Given the description of an element on the screen output the (x, y) to click on. 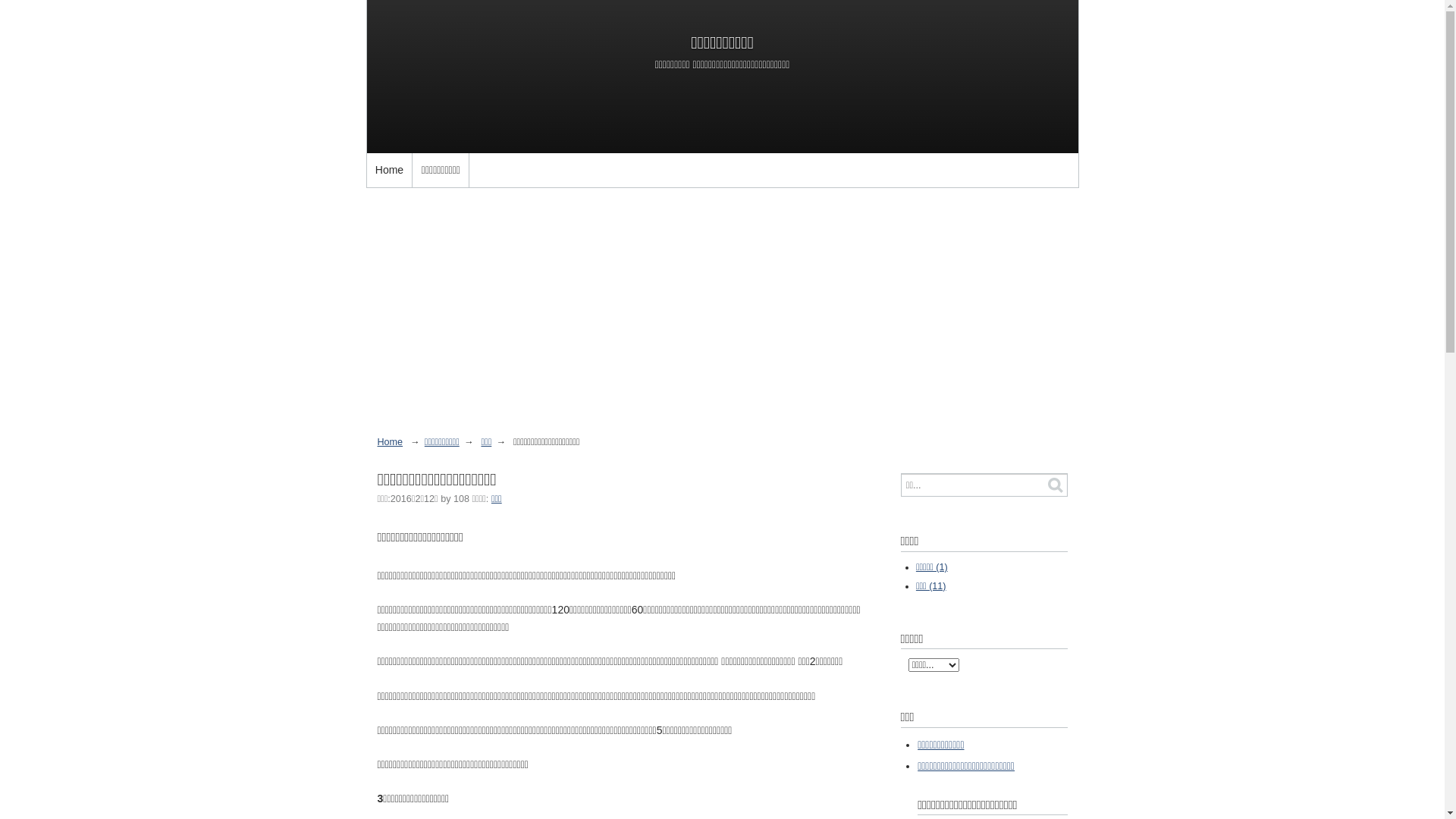
Home Element type: text (390, 441)
Home Element type: text (389, 170)
Advertisement Element type: hover (721, 311)
